Given the description of an element on the screen output the (x, y) to click on. 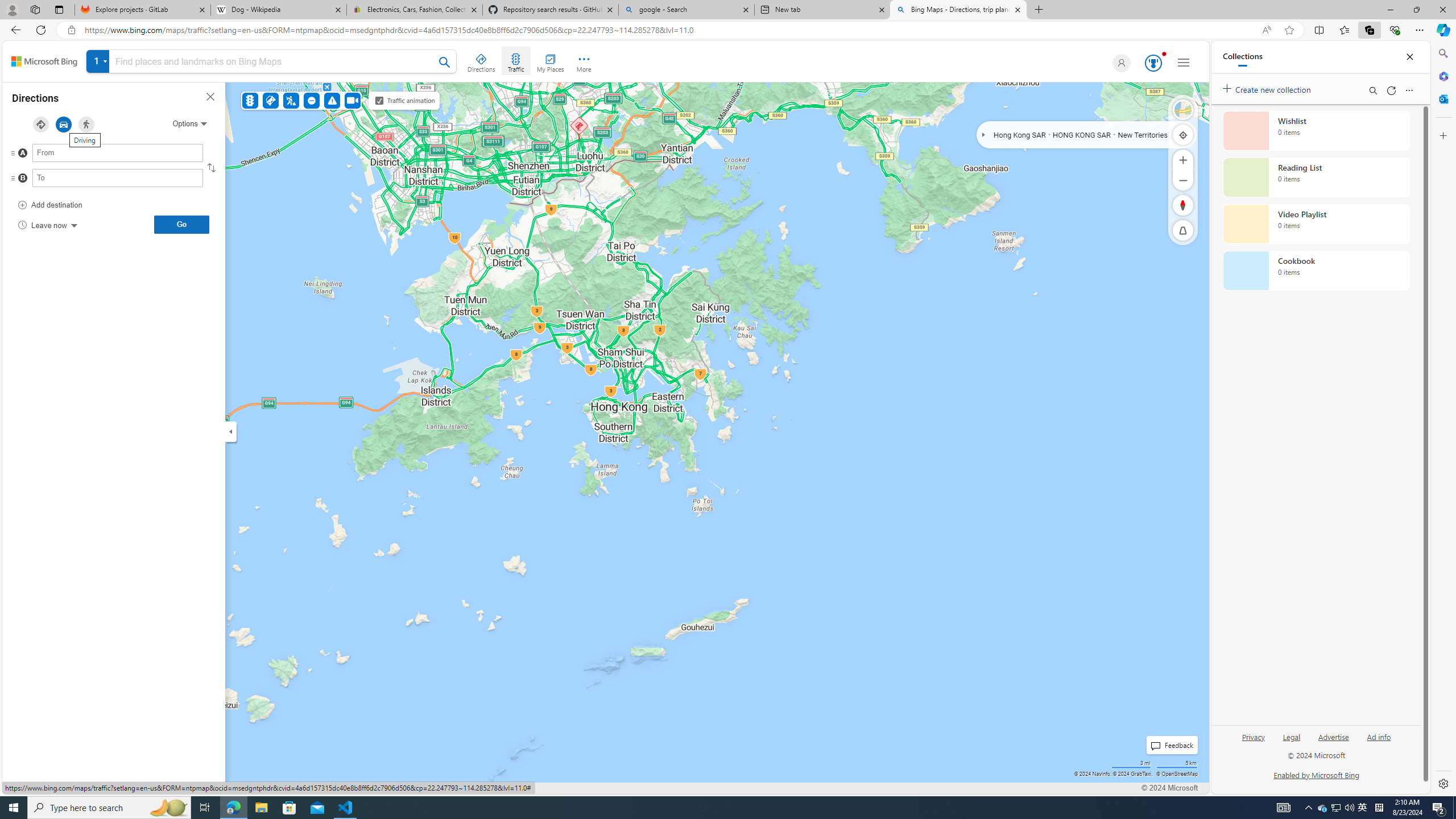
AutomationID: rh_meter (1152, 62)
AutomationID: serp_medal_svg (1152, 63)
Reading List collection, 0 items (1316, 177)
About our ads (200, 787)
A (95, 155)
Road Closures (312, 100)
Animation (1163, 53)
Options (188, 123)
Traffic animation (378, 100)
Video Playlist collection, 0 items (1316, 223)
